Given the description of an element on the screen output the (x, y) to click on. 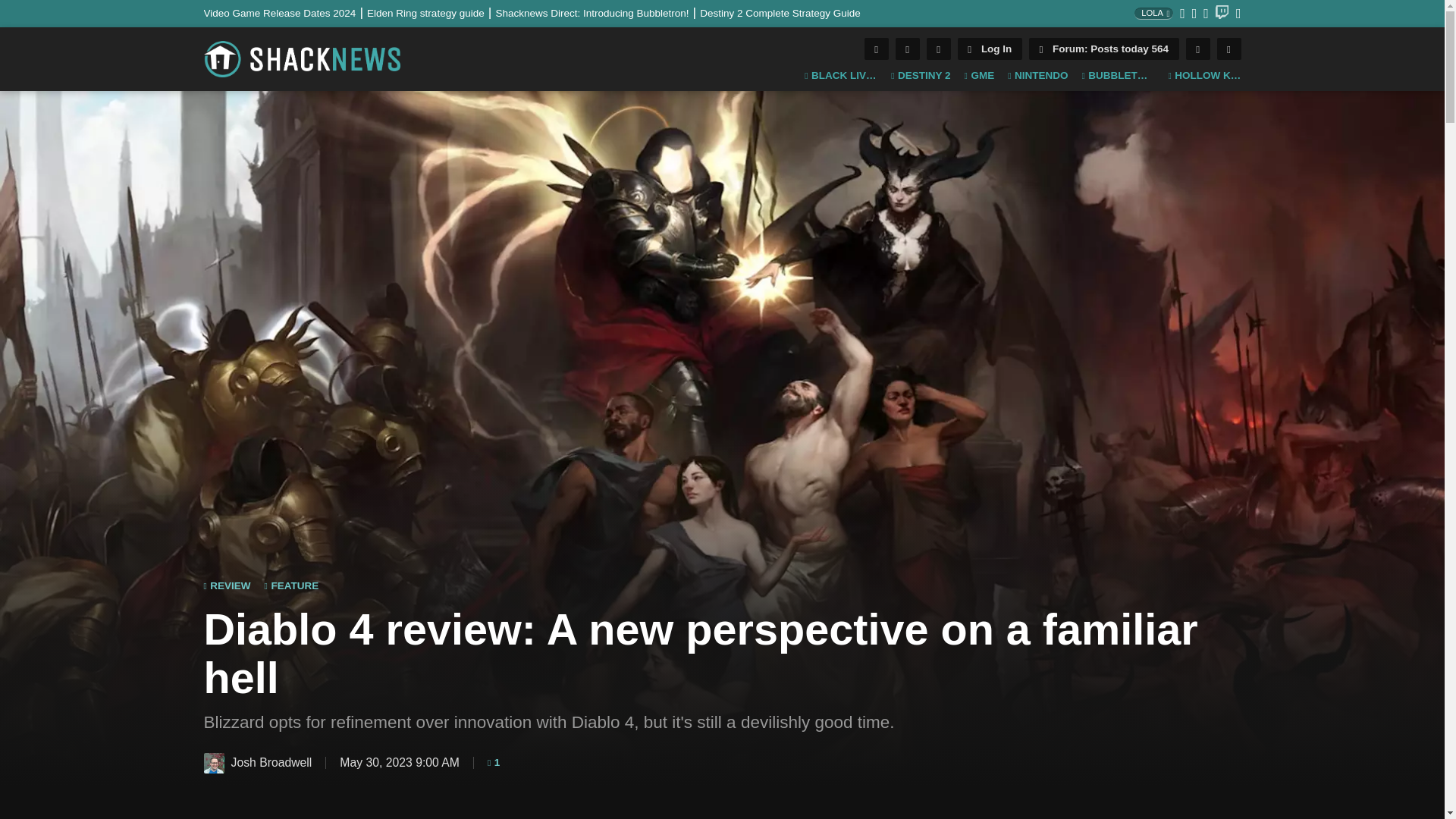
Video Game Release Dates 2024 (284, 11)
FEATURE (291, 585)
REVIEW (226, 585)
DESTINY 2 (920, 75)
BUBBLETRON (1117, 75)
Shacknews Direct: Introducing Bubbletron! (597, 11)
HOLLOW KNIGHT: SILKSONG (1203, 75)
Destiny 2 Complete Strategy Guide (780, 11)
 Josh Broadwell (213, 762)
Elden Ring strategy guide (430, 11)
GME (978, 75)
NINTENDO (1037, 75)
BLACK LIVES MATTER (841, 75)
